Given the description of an element on the screen output the (x, y) to click on. 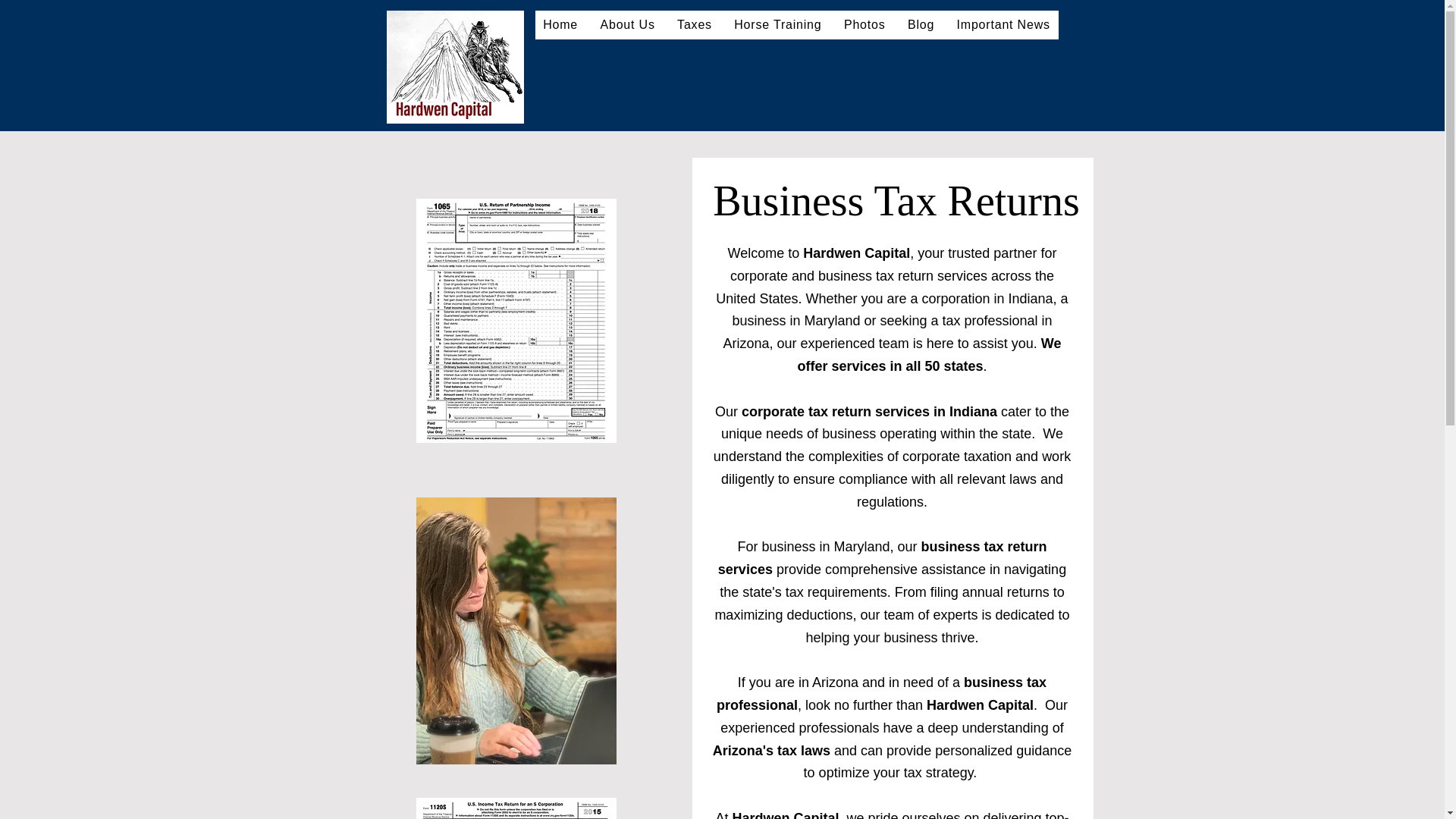
logo 2.jpg (455, 66)
Important News (1003, 24)
Photos (864, 24)
About Us (627, 24)
Home (560, 24)
Blog (920, 24)
